Given the description of an element on the screen output the (x, y) to click on. 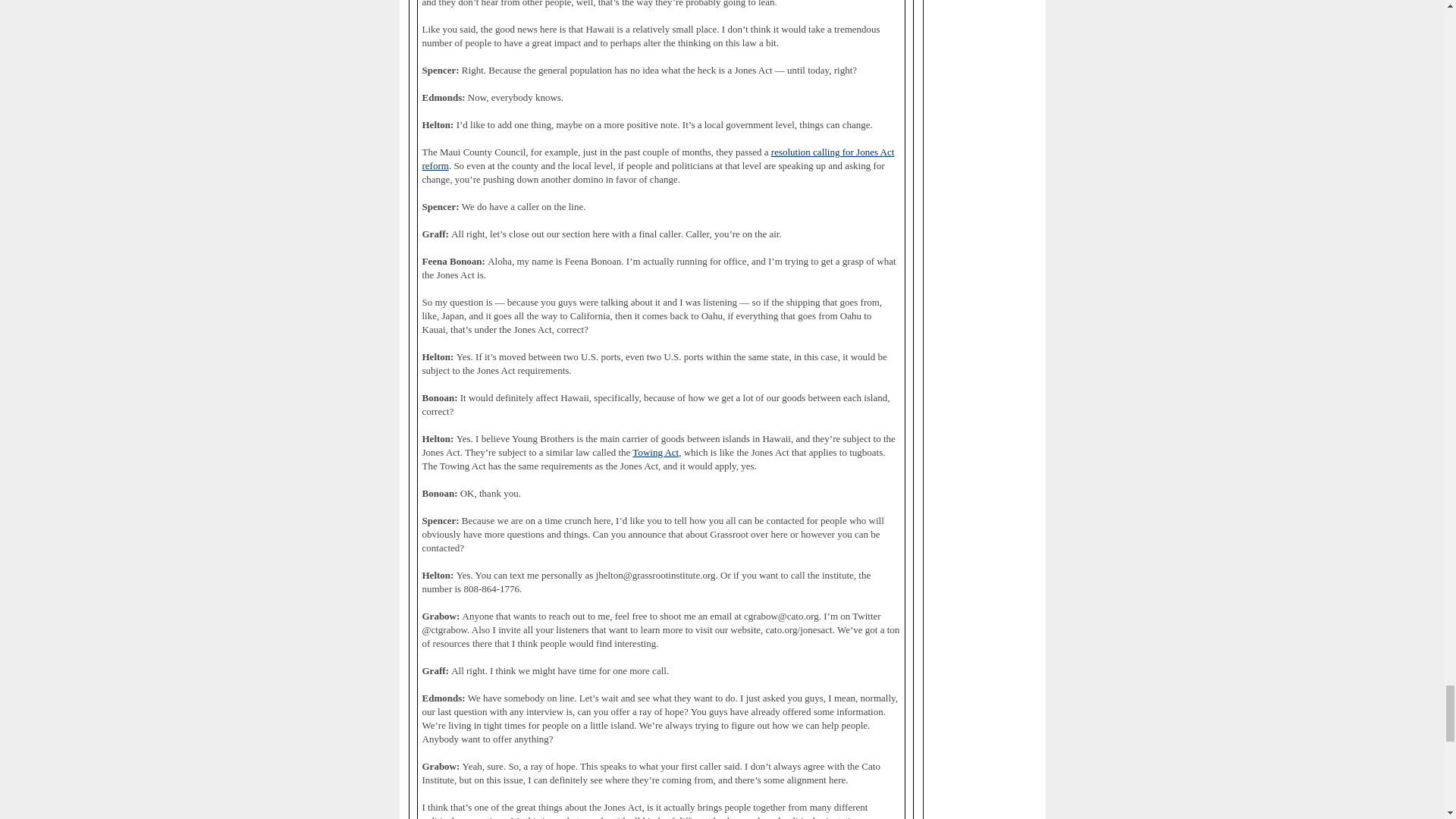
resolution calling for Jones Act reform (657, 159)
Towing Act (654, 452)
